Given the description of an element on the screen output the (x, y) to click on. 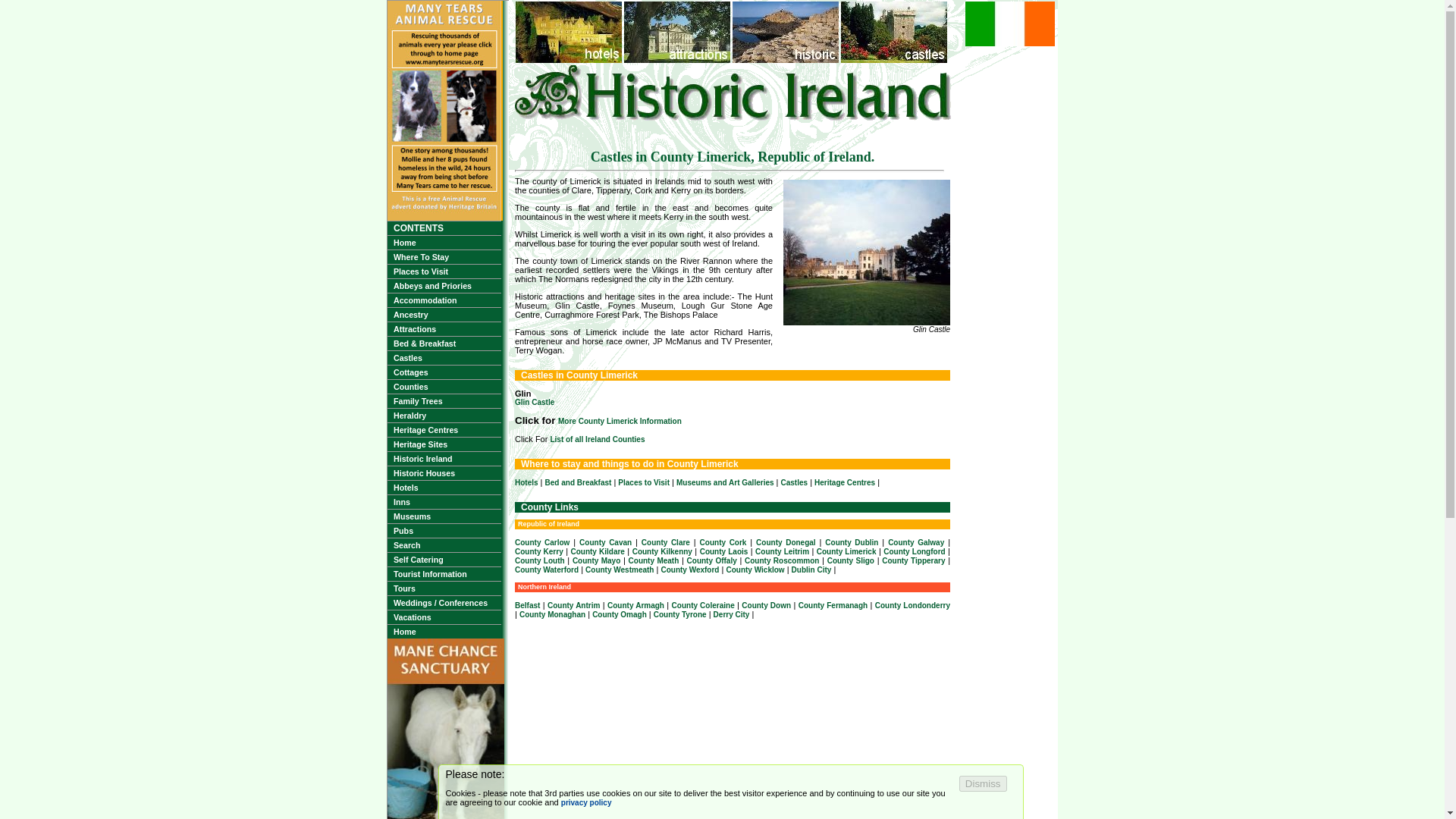
Home (443, 631)
Museums (443, 516)
Heritage Centres (443, 429)
Vacations (443, 617)
Self Catering (443, 559)
Abbeys and Priories (443, 285)
Hotels (526, 482)
Castles (443, 357)
Pubs (443, 530)
Heraldry (443, 415)
